Given the description of an element on the screen output the (x, y) to click on. 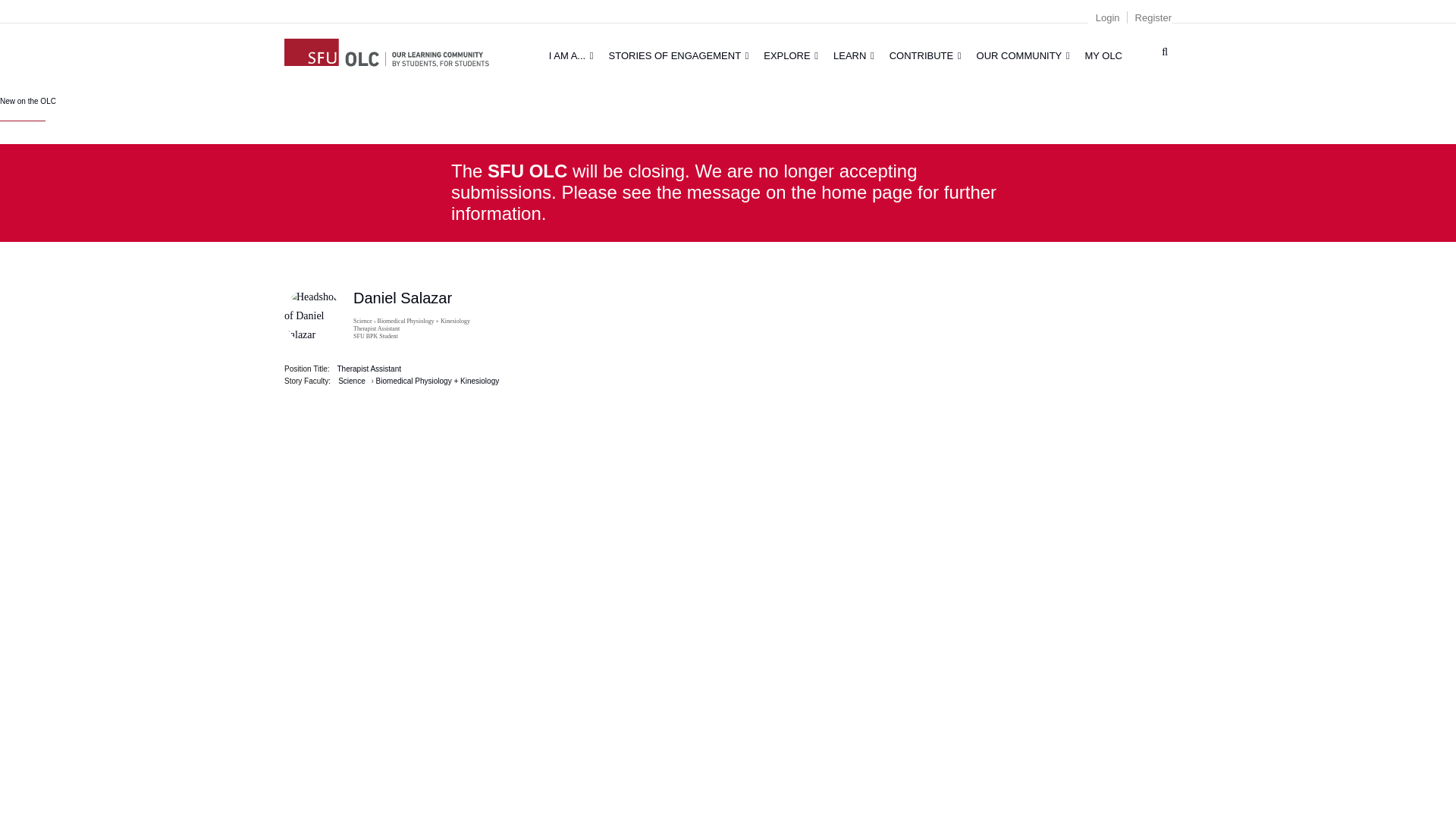
OUR COMMUNITY (1023, 55)
Login (1107, 17)
Register (1153, 17)
CONTRIBUTE (925, 55)
LEARN (853, 55)
I AM A... (571, 55)
Home (302, 46)
STORIES OF ENGAGEMENT (679, 55)
EXPLORE (790, 55)
